Given the description of an element on the screen output the (x, y) to click on. 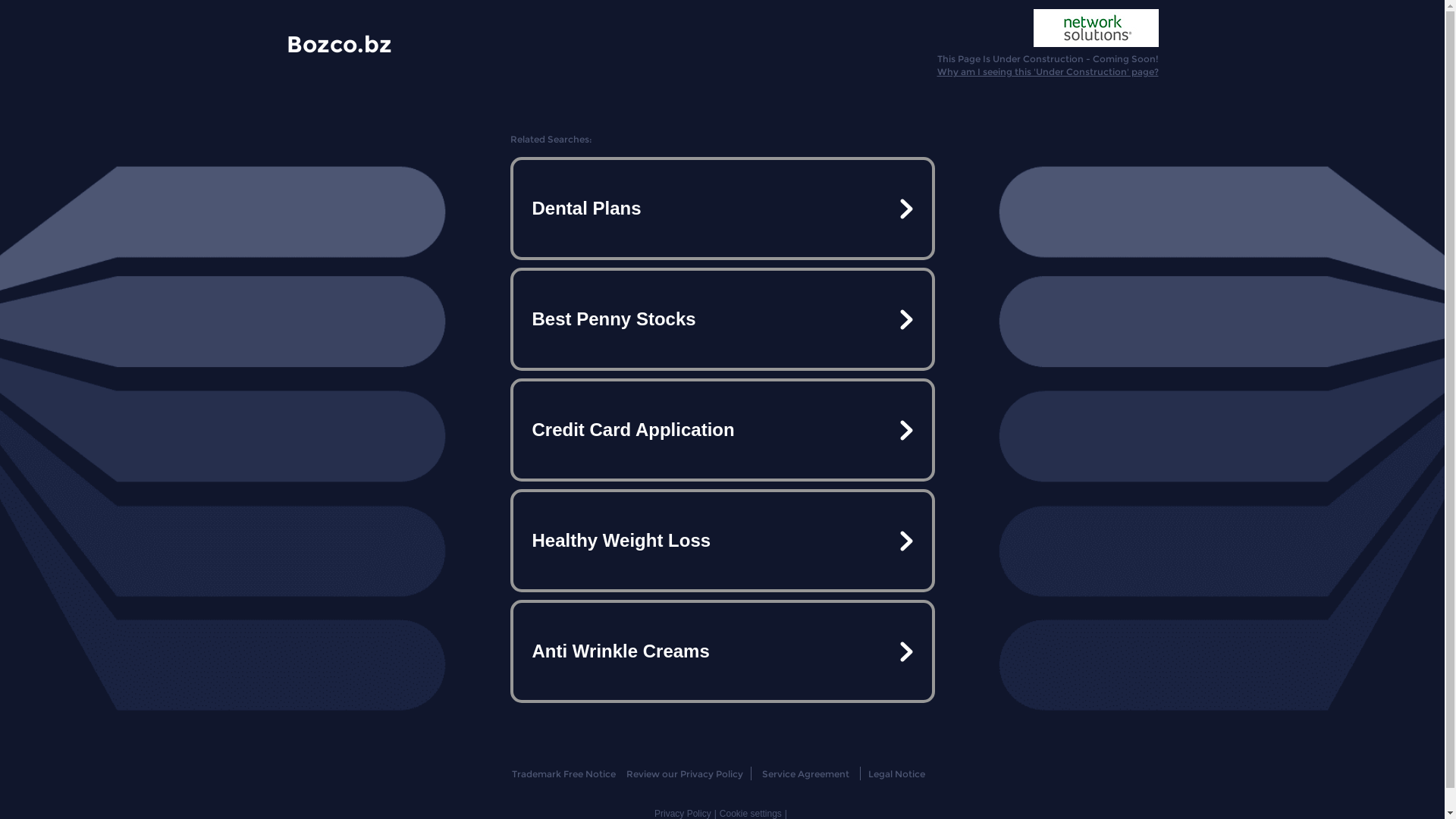
Healthy Weight Loss Element type: text (721, 540)
Dental Plans Element type: text (721, 208)
Bozco.bz Element type: text (339, 43)
Review our Privacy Policy Element type: text (684, 773)
Legal Notice Element type: text (896, 773)
Service Agreement Element type: text (805, 773)
Anti Wrinkle Creams Element type: text (721, 650)
Best Penny Stocks Element type: text (721, 318)
Credit Card Application Element type: text (721, 429)
Why am I seeing this 'Under Construction' page? Element type: text (1047, 71)
Trademark Free Notice Element type: text (563, 773)
